Given the description of an element on the screen output the (x, y) to click on. 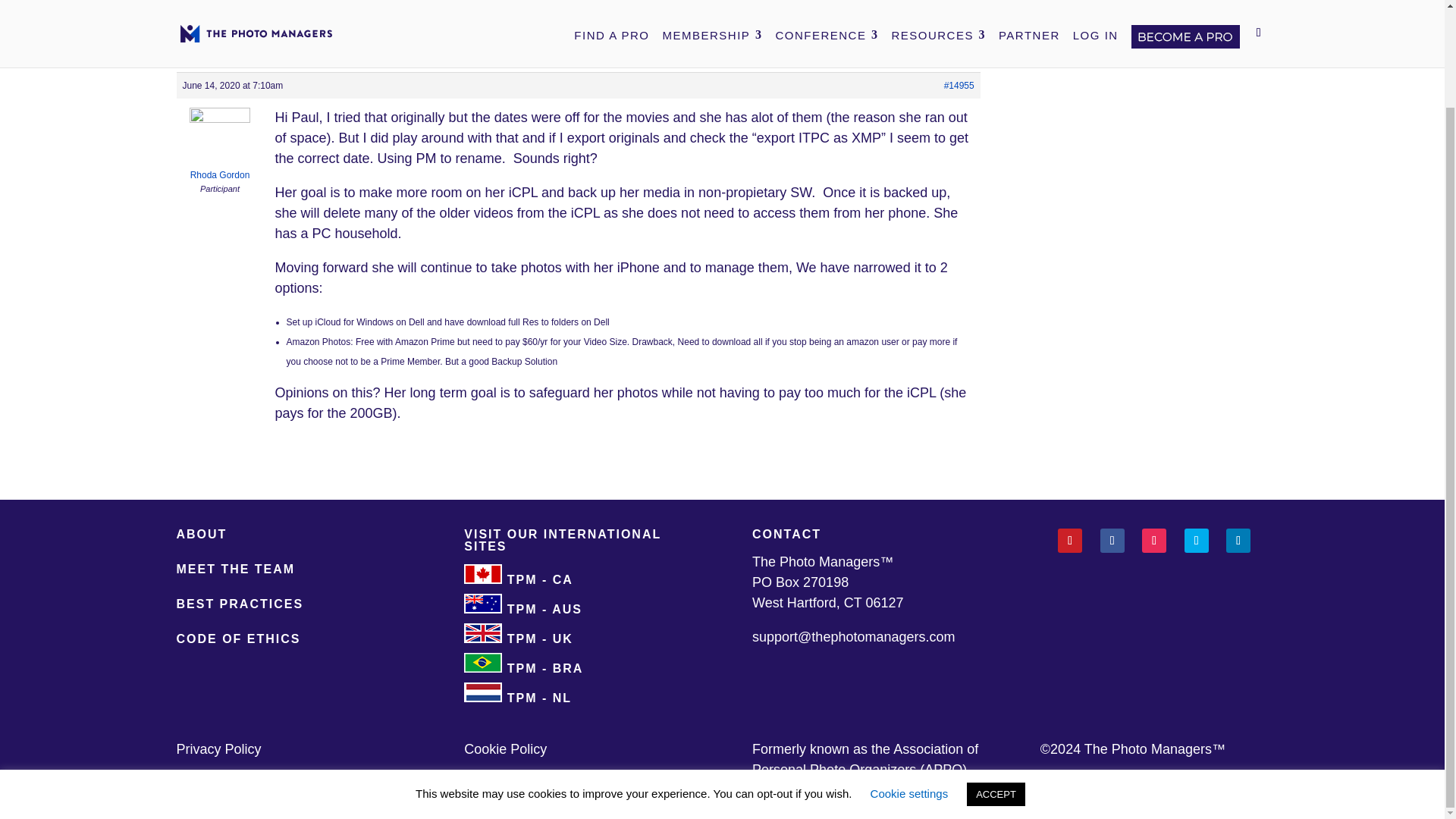
Follow on LinkedIn (1237, 540)
View Rhoda Gordon's profile (219, 147)
Follow on Facebook (1112, 540)
Follow on Pinterest (1069, 540)
Follow on Instagram (1153, 540)
Follow on Twitter (1196, 540)
